Given the description of an element on the screen output the (x, y) to click on. 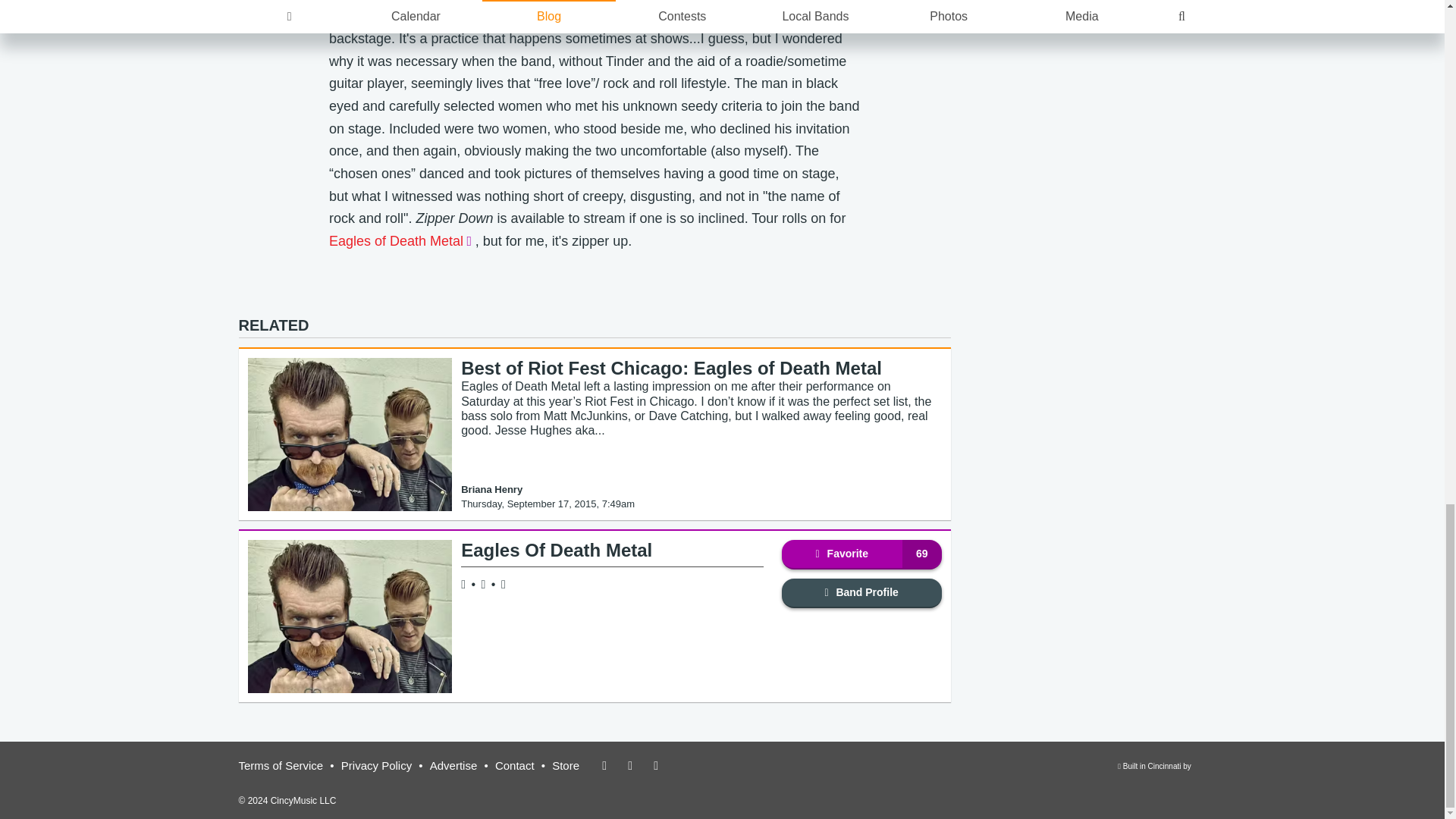
Eagles Of Death Metal (861, 554)
Band Profile (556, 549)
Eagles of Death Metal (861, 593)
